Given the description of an element on the screen output the (x, y) to click on. 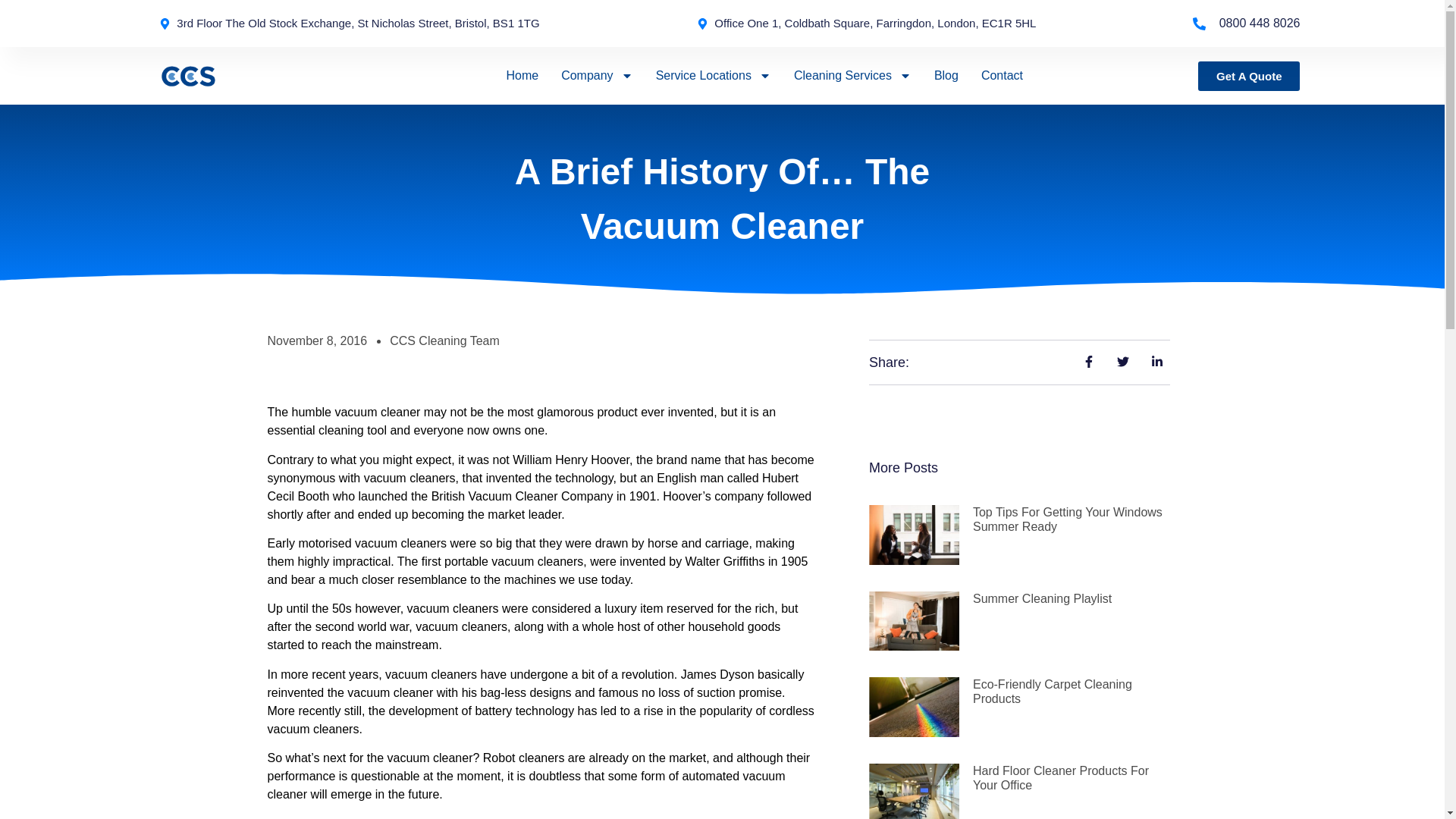
Contact (1002, 75)
Service Locations (713, 75)
Office One 1, Coldbath Square, Farringdon, London, EC1R 5HL (866, 23)
Blog (946, 75)
Home (521, 75)
Cleaning Services (852, 75)
Company (595, 75)
0800 448 8026 (1246, 23)
